Given the description of an element on the screen output the (x, y) to click on. 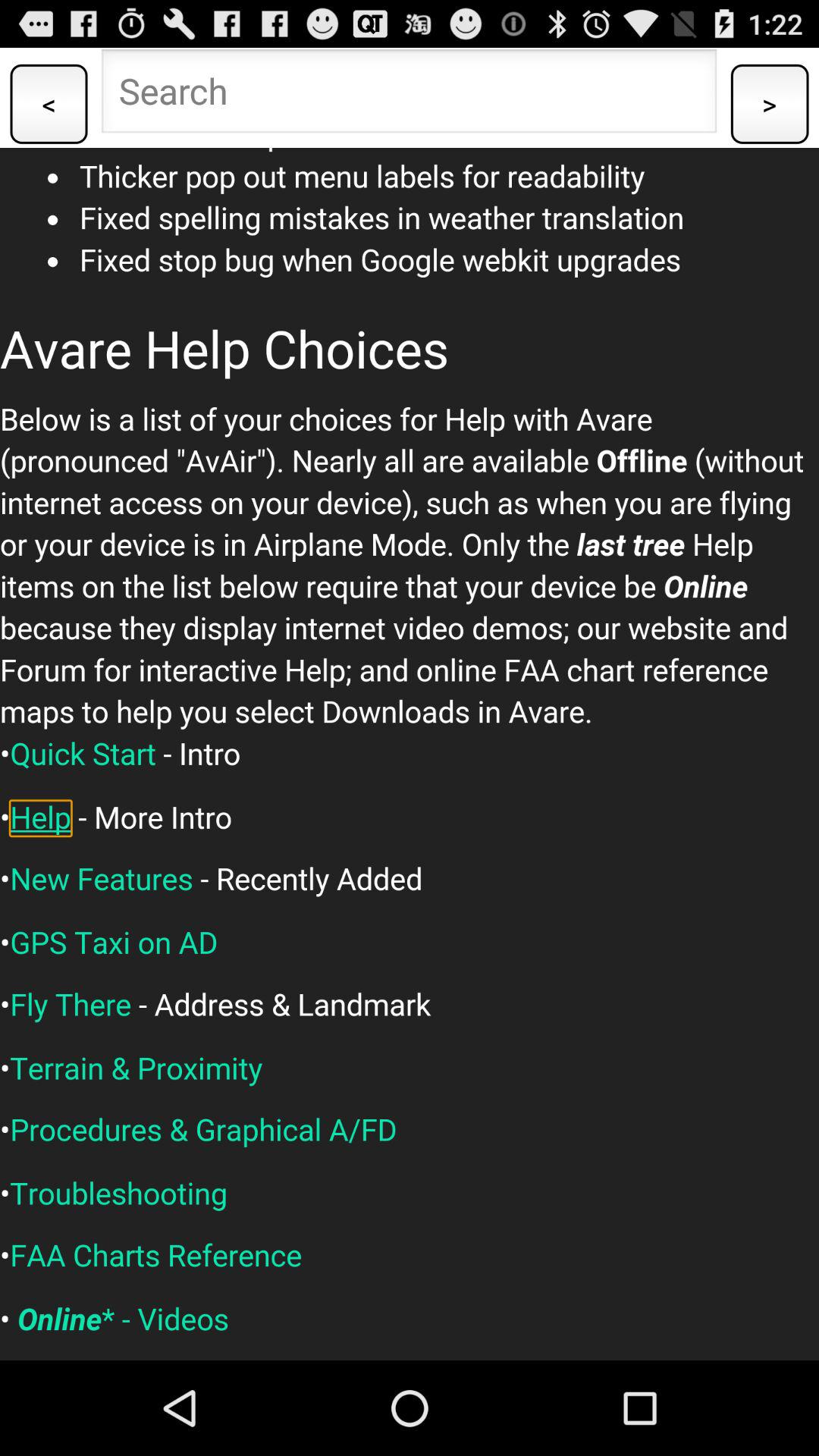
search (408, 95)
